Given the description of an element on the screen output the (x, y) to click on. 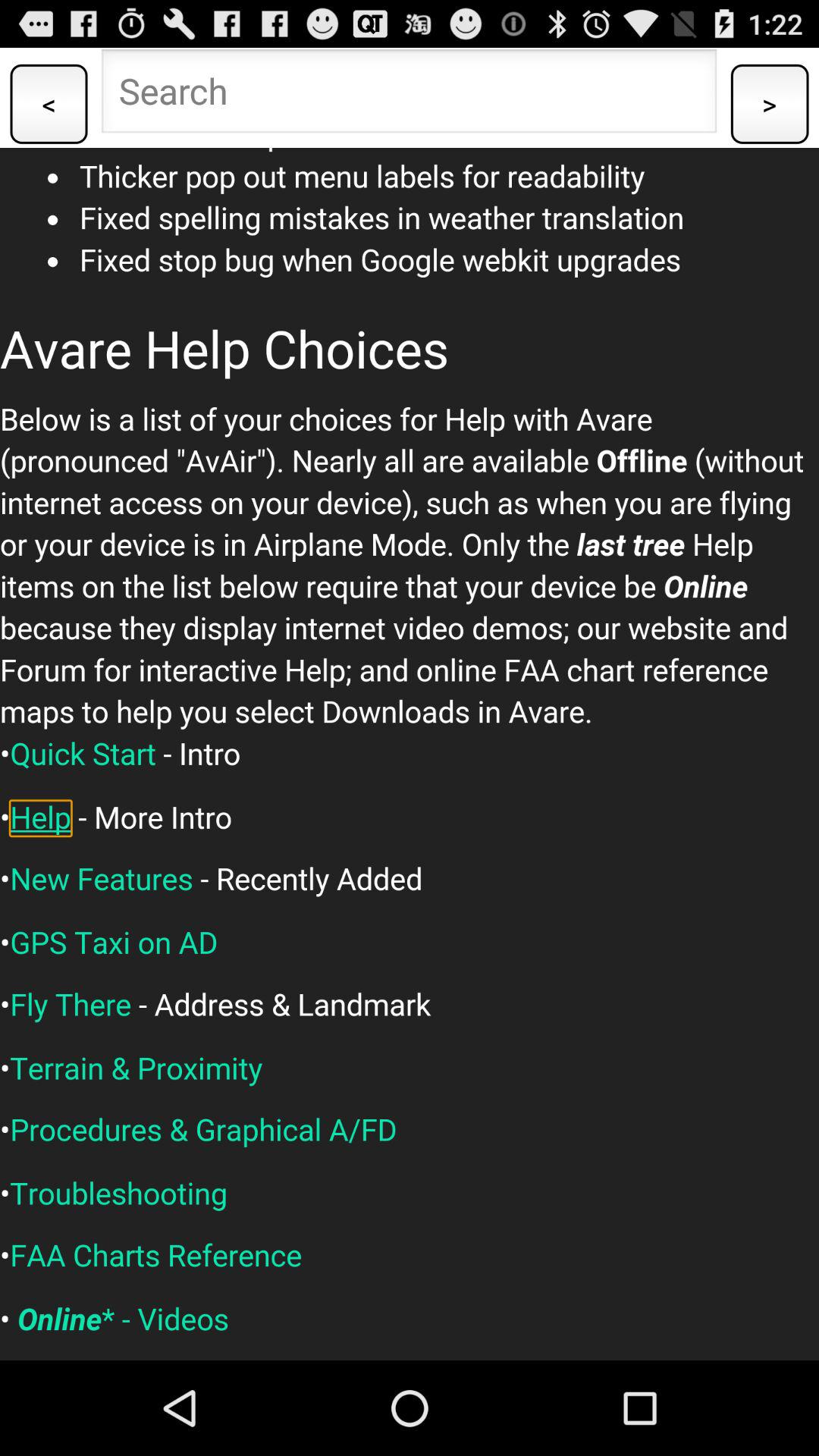
search (408, 95)
